Given the description of an element on the screen output the (x, y) to click on. 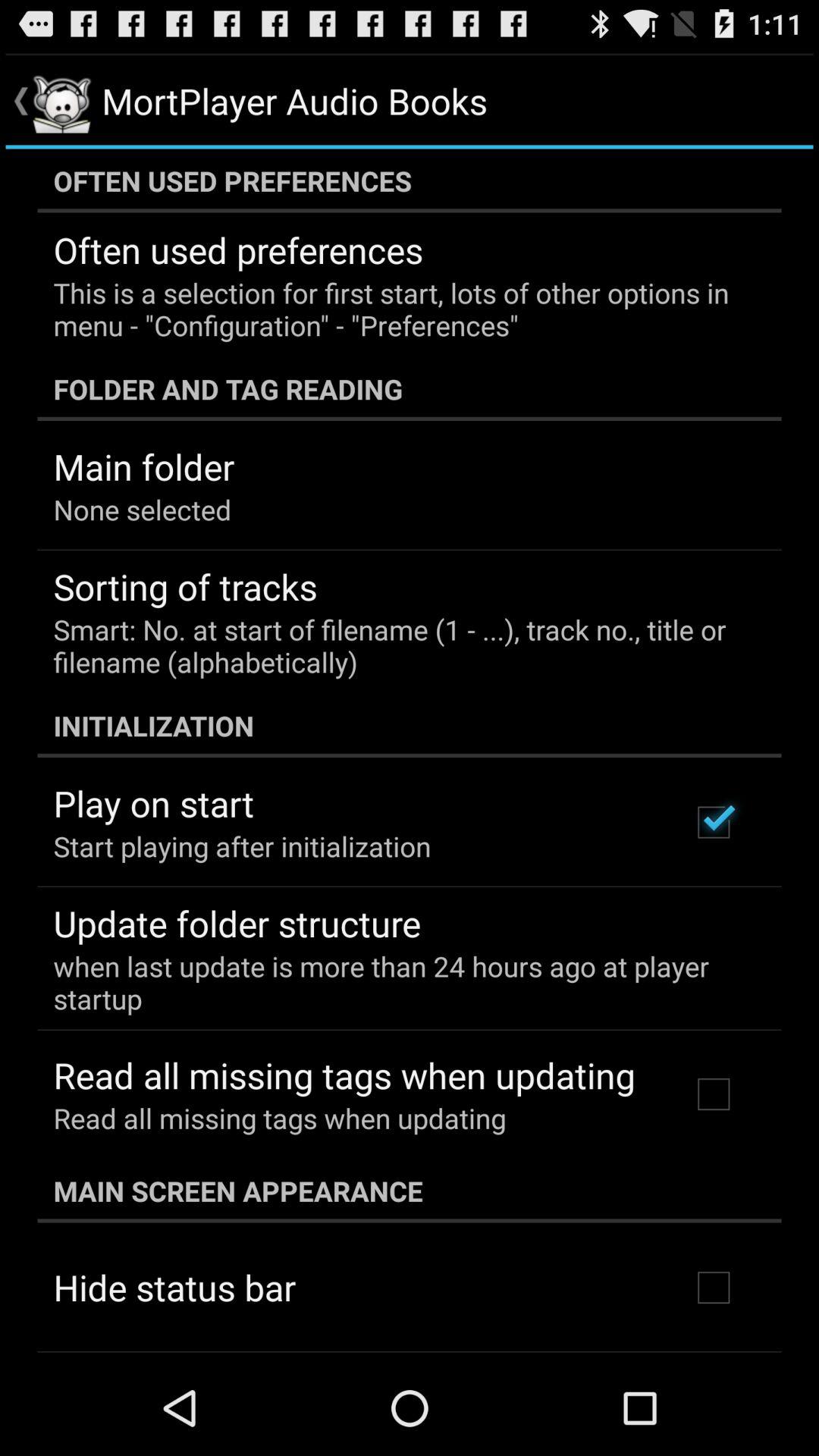
press the item below the sorting of tracks item (399, 645)
